Given the description of an element on the screen output the (x, y) to click on. 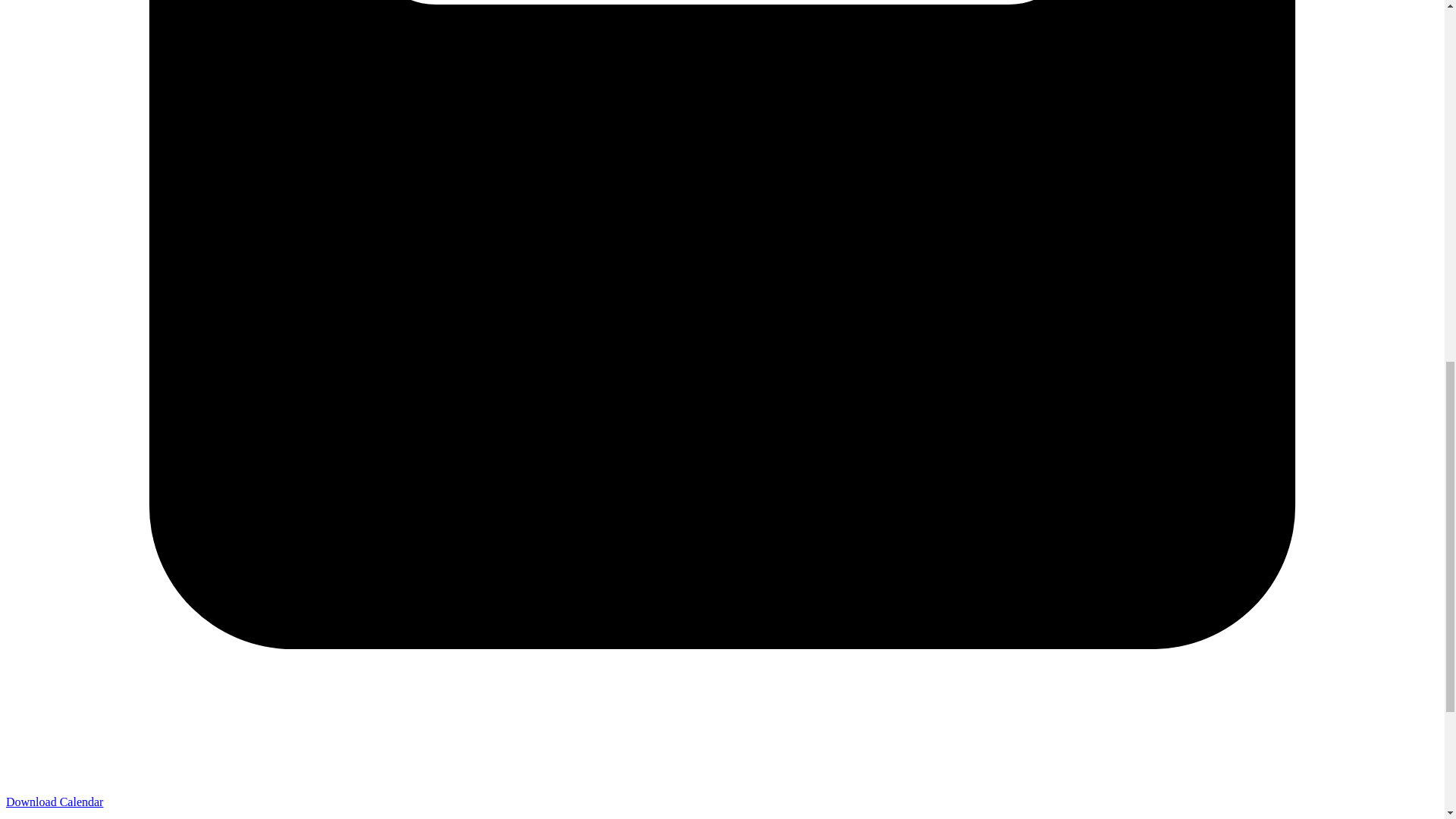
Download calendar ICS file (54, 801)
Download Calendar (54, 801)
